Given the description of an element on the screen output the (x, y) to click on. 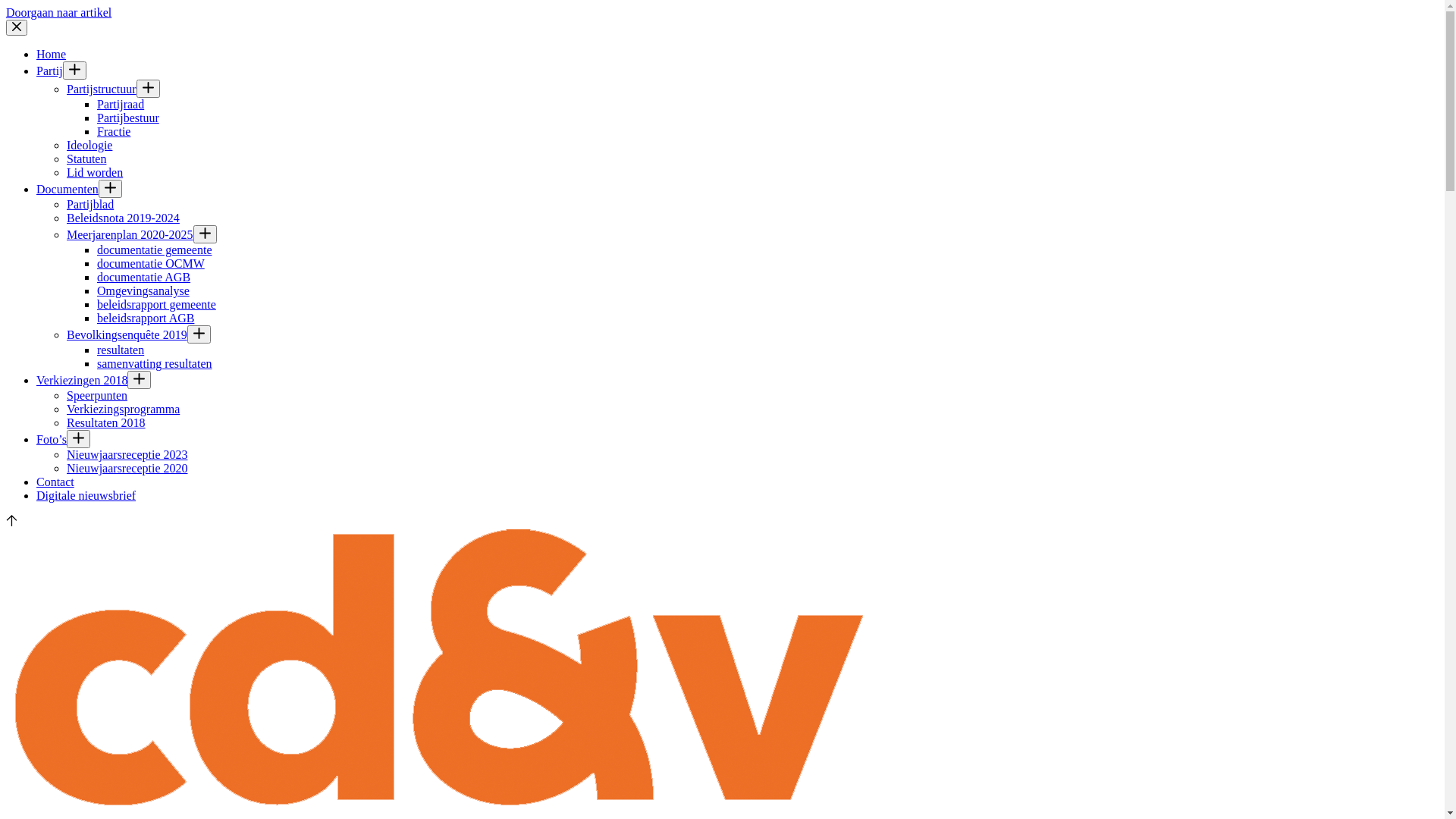
Partij Element type: text (49, 70)
documentatie AGB Element type: text (143, 276)
Speerpunten Element type: text (96, 395)
Resultaten 2018 Element type: text (105, 422)
beleidsrapport AGB Element type: text (145, 317)
Nieuwjaarsreceptie 2020 Element type: text (126, 467)
Meerjarenplan 2020-2025 Element type: text (129, 234)
Partijstructuur Element type: text (101, 88)
Partijraad Element type: text (120, 103)
documentatie gemeente Element type: text (154, 249)
Omgevingsanalyse Element type: text (143, 290)
Ideologie Element type: text (89, 144)
Partijblad Element type: text (89, 203)
resultaten Element type: text (120, 349)
beleidsrapport gemeente Element type: text (156, 304)
Nieuwjaarsreceptie 2023 Element type: text (126, 454)
documentatie OCMW Element type: text (150, 263)
samenvatting resultaten Element type: text (154, 363)
Contact Element type: text (55, 481)
Partijbestuur Element type: text (128, 117)
Doorgaan naar artikel Element type: text (58, 12)
Lid worden Element type: text (94, 172)
Ga naar boven Element type: hover (11, 521)
Beleidsnota 2019-2024 Element type: text (122, 217)
Documenten Element type: text (67, 188)
Verkiezingsprogramma Element type: text (122, 408)
Verkiezingen 2018 Element type: text (81, 379)
Fractie Element type: text (113, 131)
Statuten Element type: text (86, 158)
Digitale nieuwsbrief Element type: text (85, 495)
Home Element type: text (50, 53)
